Given the description of an element on the screen output the (x, y) to click on. 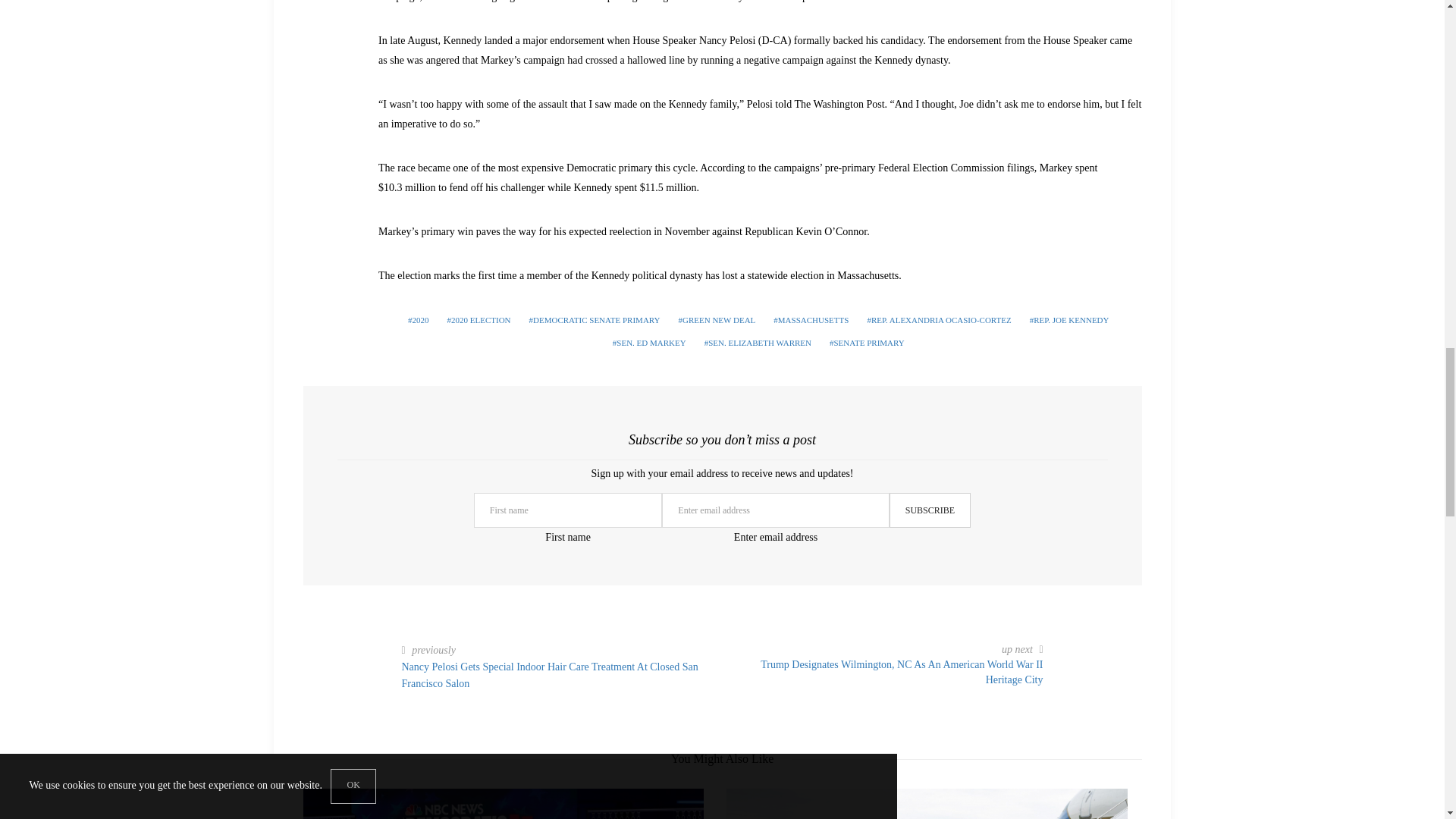
Subscribe (930, 510)
